Given the description of an element on the screen output the (x, y) to click on. 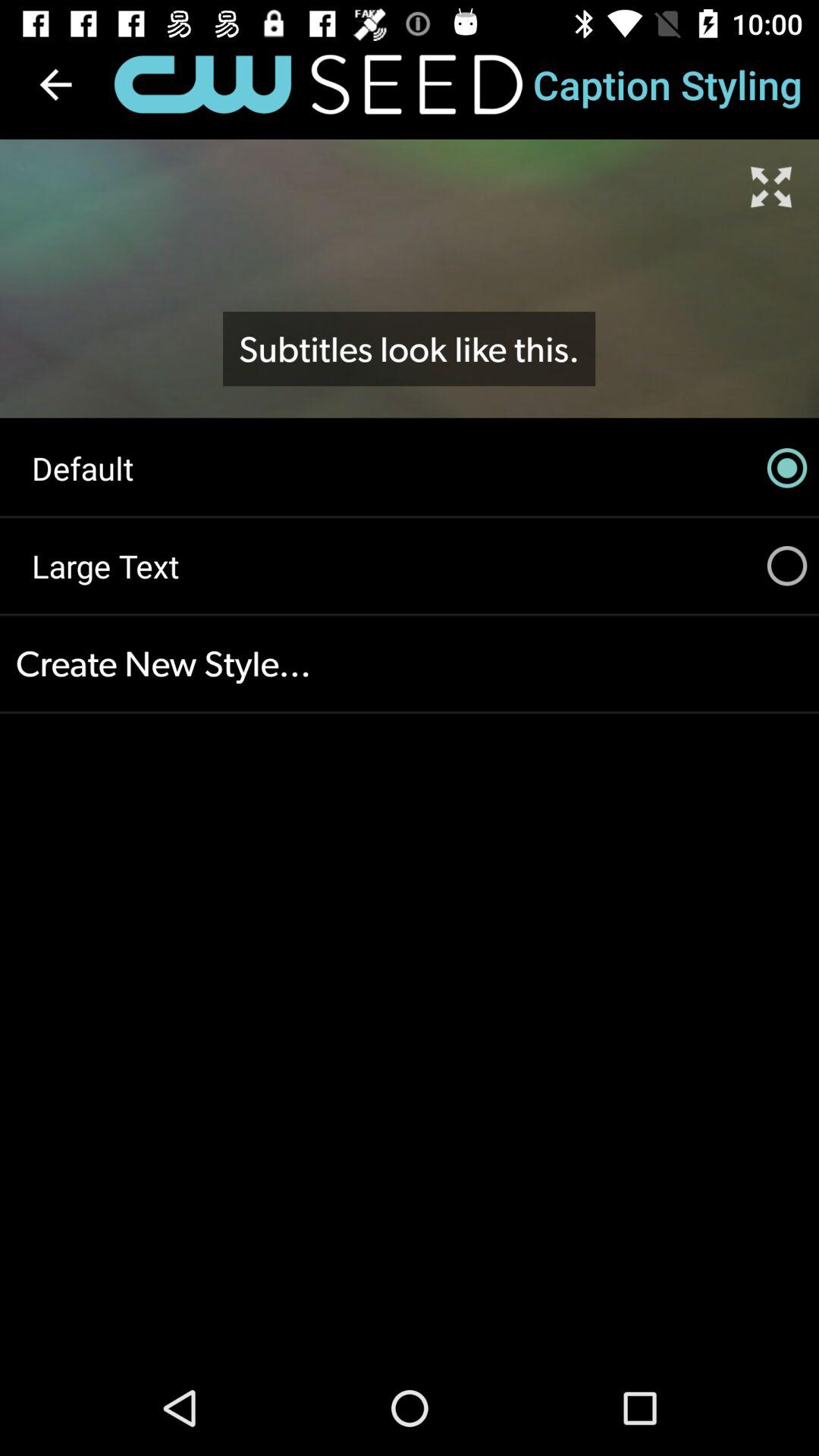
scroll until subtitles look like item (408, 348)
